Given the description of an element on the screen output the (x, y) to click on. 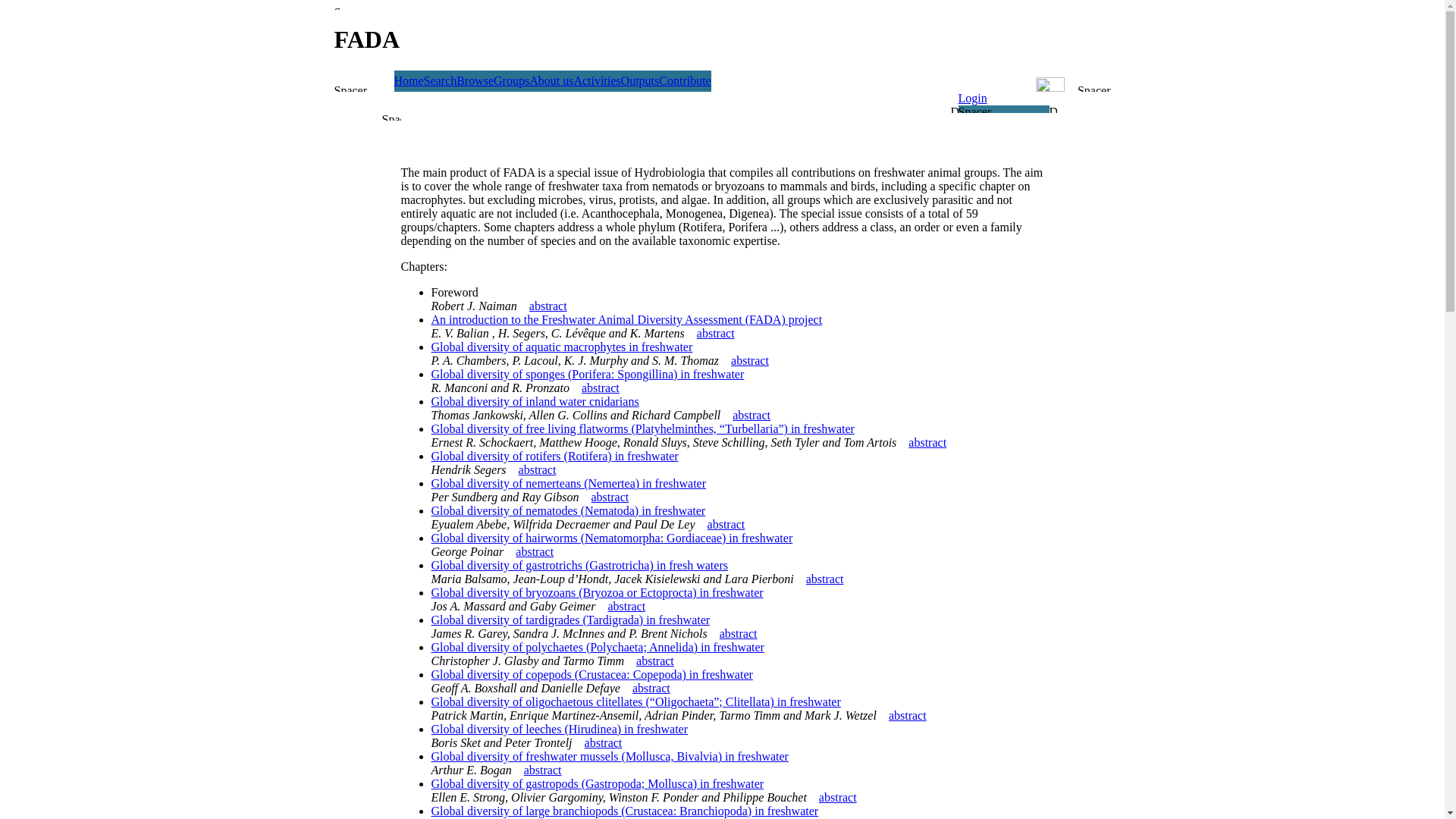
Groups Element type: text (511, 80)
abstract Element type: text (603, 742)
abstract Element type: text (626, 605)
Browse Element type: text (474, 80)
abstract Element type: text (600, 387)
abstract Element type: text (738, 633)
abstract Element type: text (927, 442)
Global diversity of tardigrades (Tardigrada) in freshwater Element type: text (569, 619)
abstract Element type: text (715, 332)
abstract Element type: text (548, 305)
Global diversity of nemerteans (Nemertea) in freshwater Element type: text (568, 482)
Global diversity of nematodes (Nematoda) in freshwater Element type: text (567, 510)
abstract Element type: text (537, 469)
Search Element type: text (440, 80)
abstract Element type: text (907, 715)
Contribute Element type: text (684, 80)
Outputs Element type: text (640, 80)
Login Element type: text (972, 97)
About us Element type: text (551, 80)
abstract Element type: text (751, 414)
abstract Element type: text (655, 660)
abstract Element type: text (542, 769)
Global diversity of aquatic macrophytes in freshwater Element type: text (561, 346)
Global diversity of inland water cnidarians Element type: text (534, 401)
Activities Element type: text (596, 80)
abstract Element type: text (651, 687)
abstract Element type: text (825, 578)
Home Element type: text (408, 80)
abstract Element type: text (749, 360)
Global diversity of leeches (Hirudinea) in freshwater Element type: text (558, 728)
abstract Element type: text (837, 796)
abstract Element type: text (534, 551)
Global diversity of rotifers (Rotifera) in freshwater Element type: text (553, 455)
abstract Element type: text (726, 523)
abstract Element type: text (609, 496)
